Given the description of an element on the screen output the (x, y) to click on. 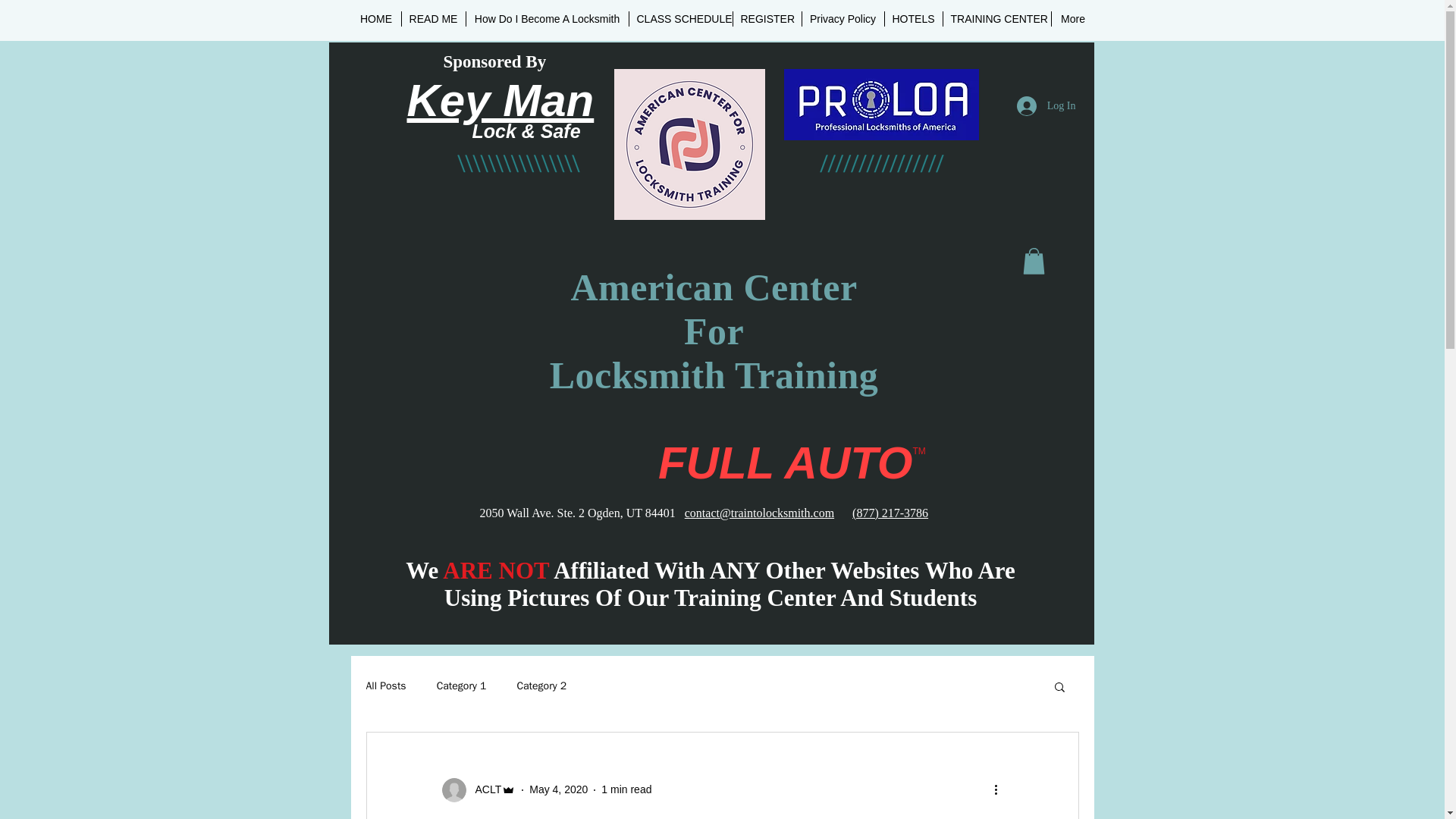
HOTELS (912, 18)
Category 1 (461, 685)
Category 2 (541, 685)
How Do I Become A Locksmith (546, 18)
TRAINING CENTER (997, 18)
Log In (1046, 104)
HOME (376, 18)
READ ME (433, 18)
ACLT (482, 789)
Key Man (500, 101)
REGISTER (766, 18)
All Posts (385, 685)
May 4, 2020 (558, 788)
ACLT (478, 790)
1 min read (625, 788)
